Given the description of an element on the screen output the (x, y) to click on. 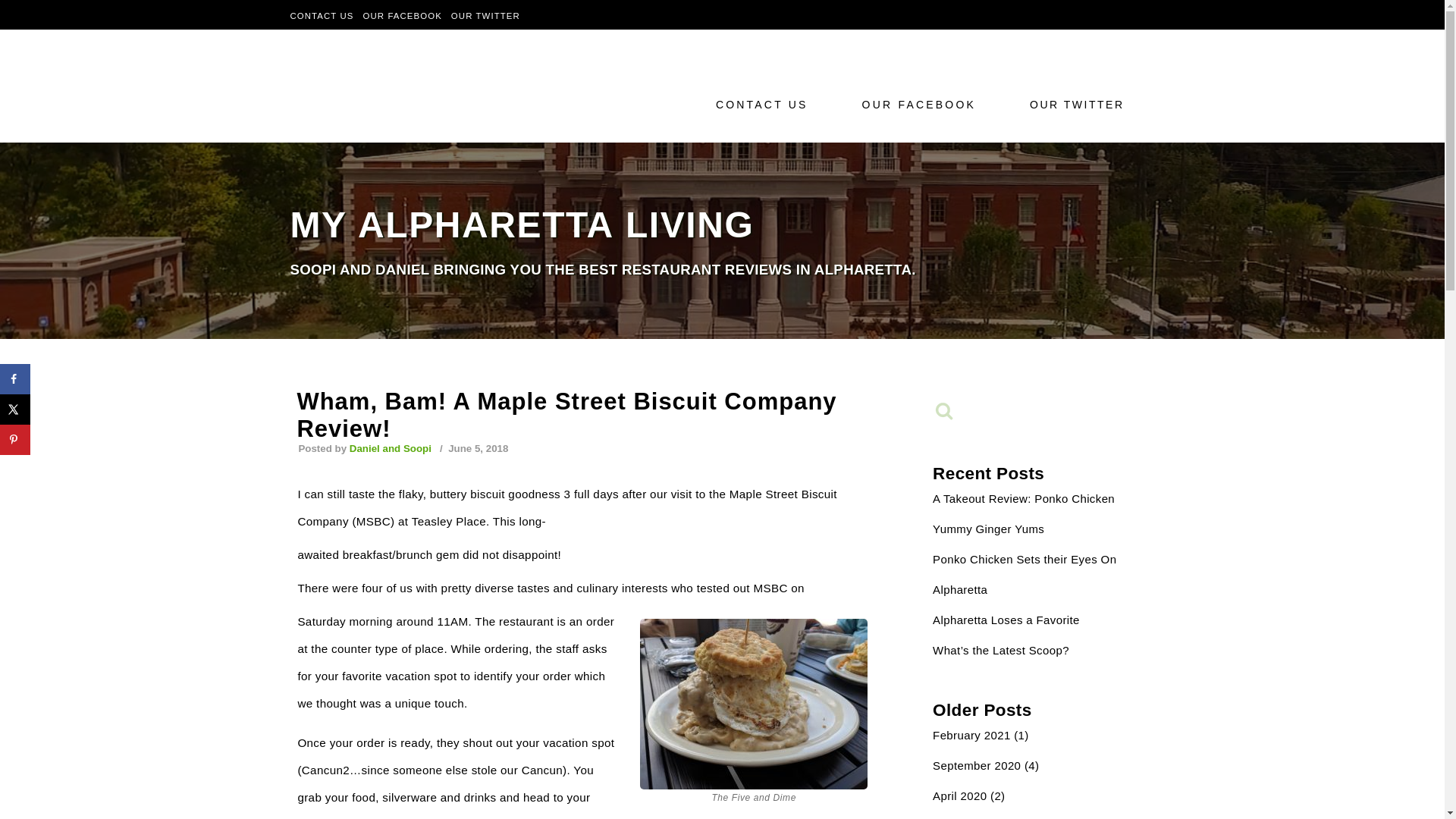
June 5, 2018 (476, 448)
Yummy Ginger Yums (988, 528)
OUR FACEBOOK (922, 104)
CONTACT US (321, 15)
Ponko Chicken Sets their Eyes On Alpharetta (1024, 574)
Save to Pinterest (15, 440)
April 2020 (960, 795)
Alpharetta Loses a Favorite (1006, 619)
February 2021 (971, 735)
